Given the description of an element on the screen output the (x, y) to click on. 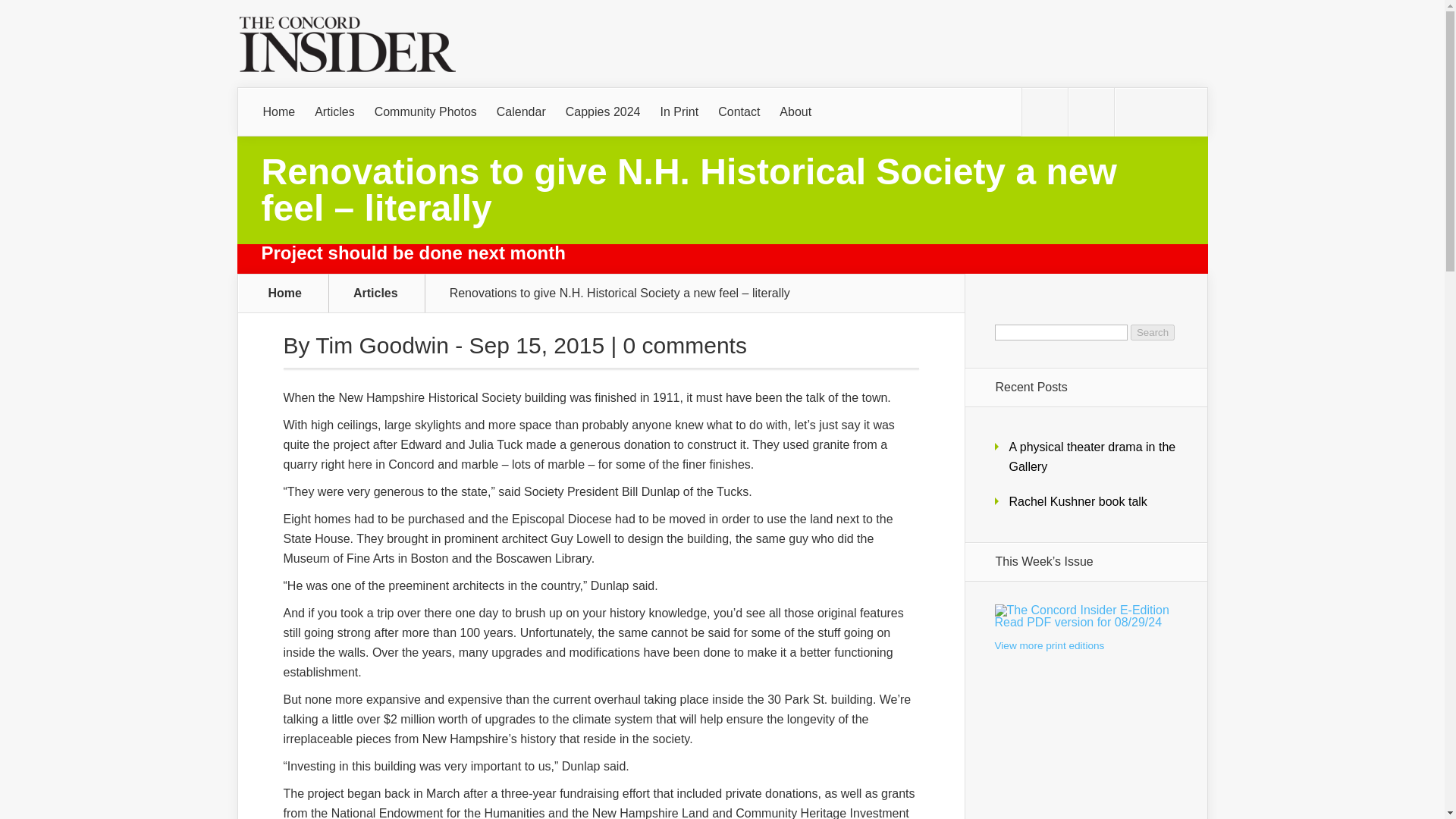
Home (279, 111)
View more print editions (1085, 646)
Search (1152, 332)
In Print (679, 111)
About (795, 111)
Follow us on Facebook (1090, 111)
Contact (384, 344)
Calendar (738, 111)
0 comments (521, 111)
